Given the description of an element on the screen output the (x, y) to click on. 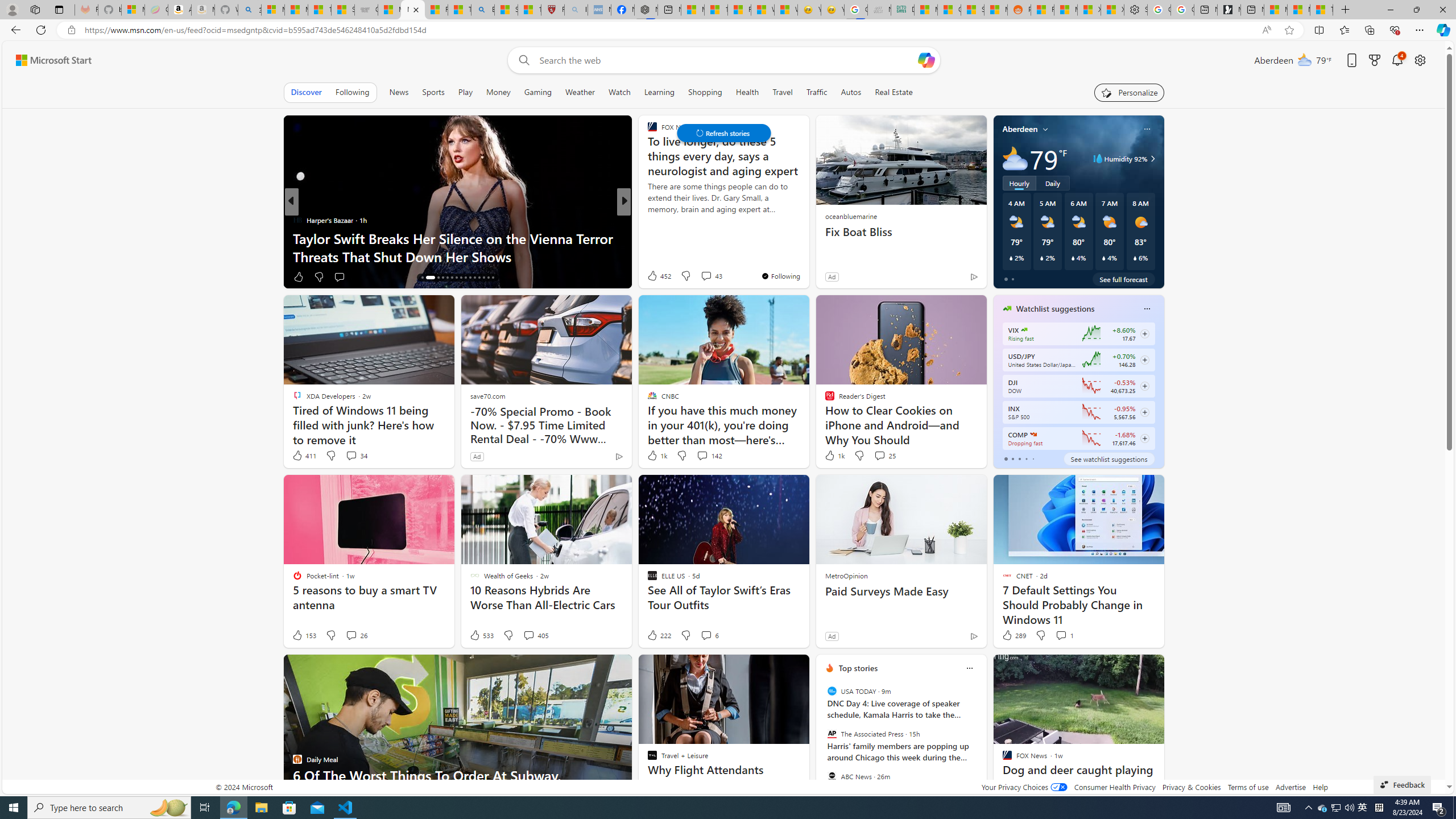
The Associated Press (832, 733)
NASDAQ (1032, 434)
CBOE Market Volatility Index (1023, 329)
Your Privacy Choices (1024, 786)
14 Things To Avoid Ordering At Wendy's And Why (807, 256)
View comments 197 Comment (709, 276)
